Given the description of an element on the screen output the (x, y) to click on. 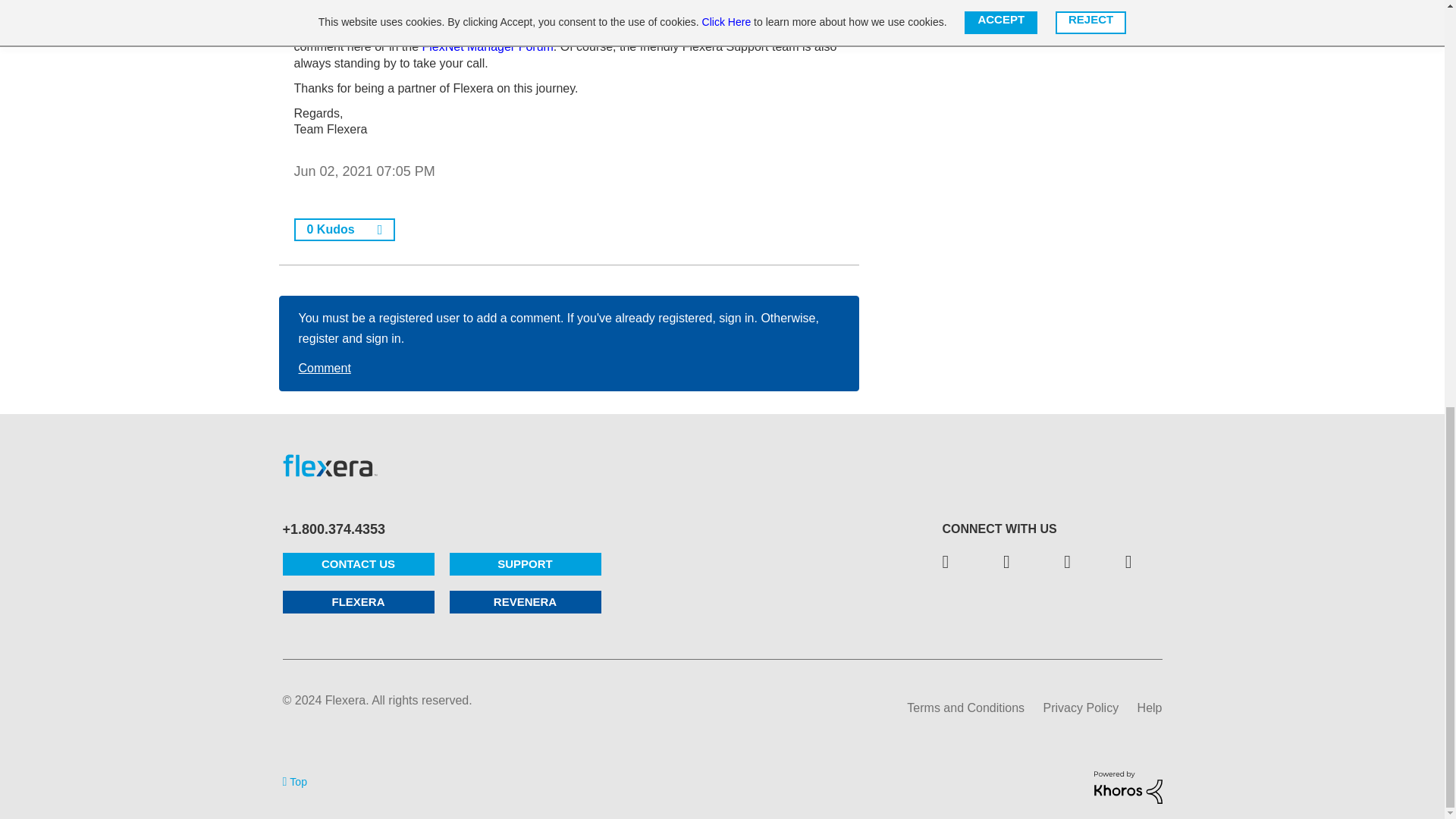
The total number of kudos this post has received. (330, 228)
Posted on (569, 171)
Click here to give kudos to this post. (380, 229)
Top (293, 780)
Top (293, 780)
